Given the description of an element on the screen output the (x, y) to click on. 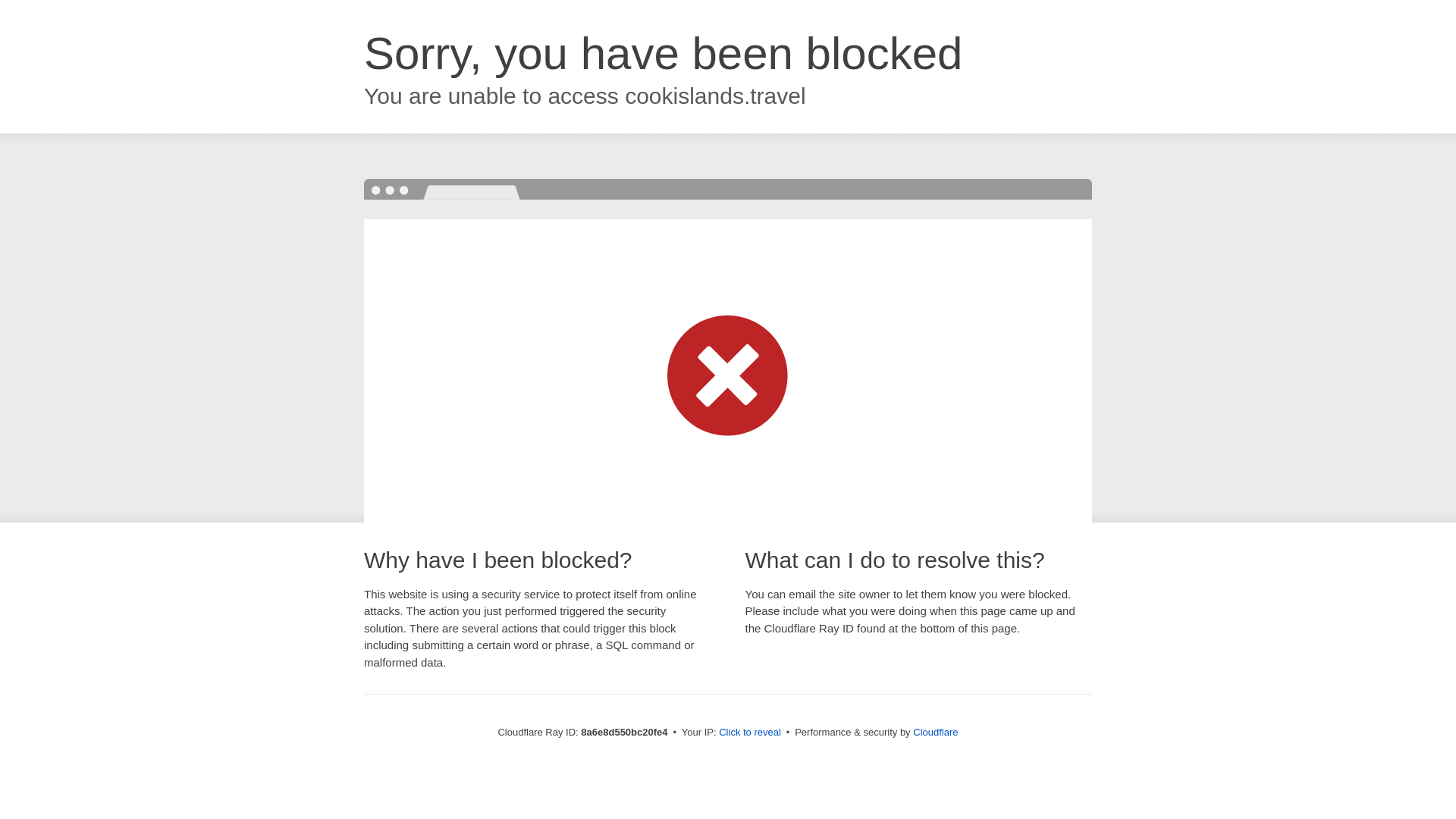
Click to reveal (749, 732)
Cloudflare (935, 731)
